Given the description of an element on the screen output the (x, y) to click on. 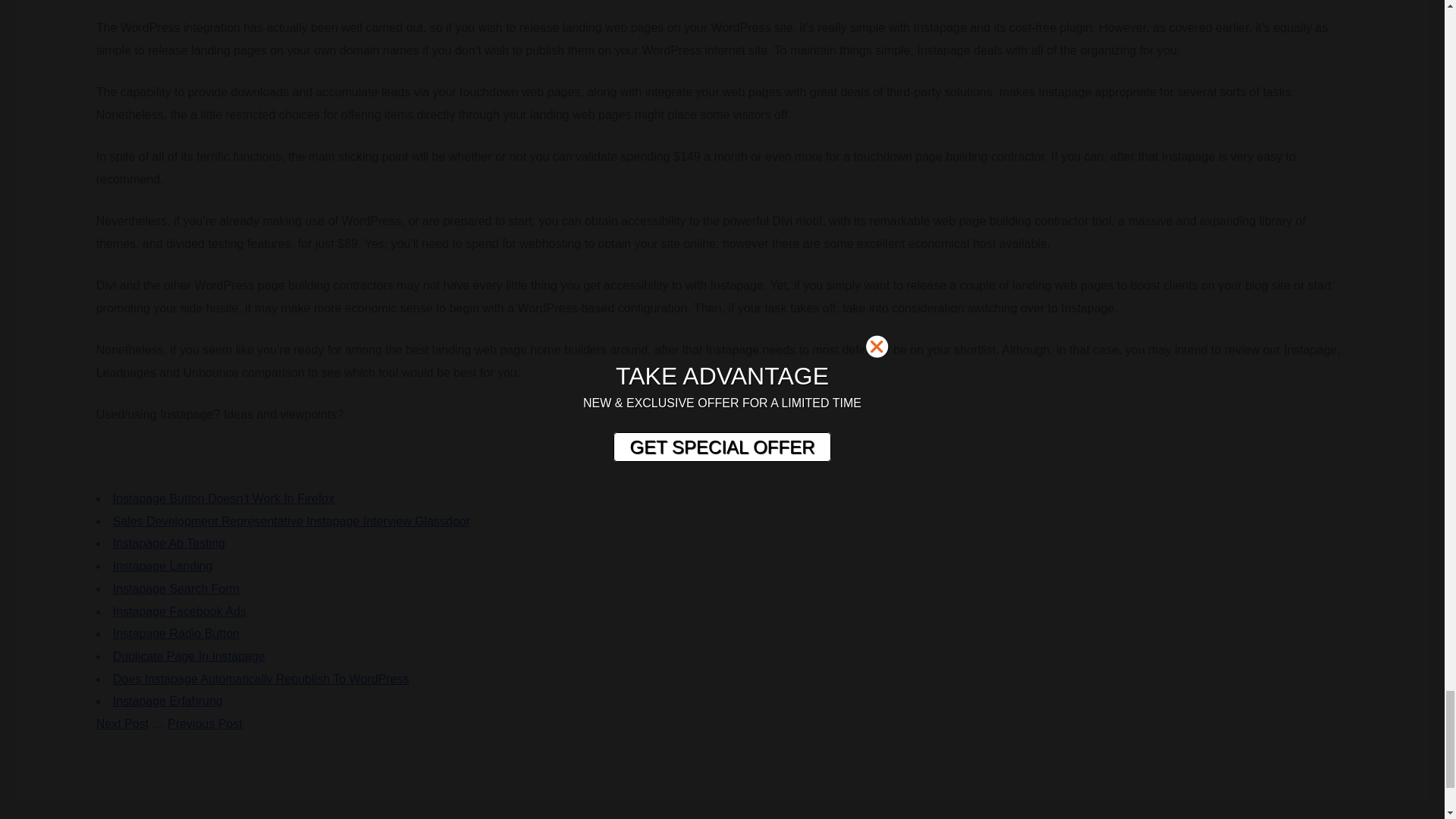
Instapage Landing (162, 565)
Instapage Search Form (176, 588)
Instapage Radio Button (176, 633)
Next Post (122, 723)
Instapage Facebook Ads (179, 611)
Duplicate Page In Instapage (188, 656)
Does Instapage Automatically Republish To WordPress (261, 678)
Instapage Ab Testing (169, 543)
Instapage Radio Button (176, 633)
Previous Post (205, 723)
Instapage Landing (162, 565)
Does Instapage Automatically Republish To WordPress (261, 678)
Instapage Erfahrung (167, 700)
